Given the description of an element on the screen output the (x, y) to click on. 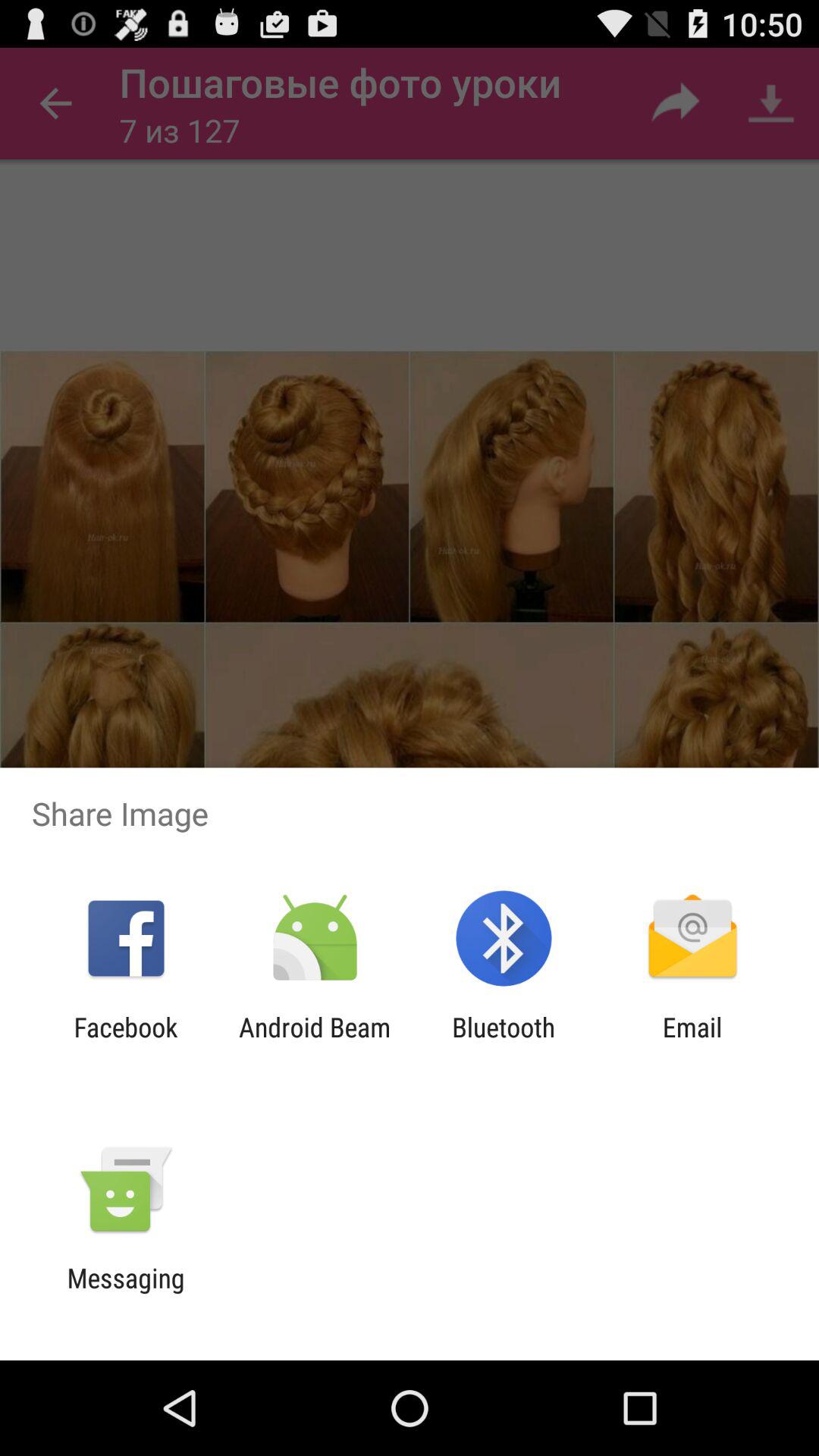
turn on the bluetooth icon (503, 1042)
